Given the description of an element on the screen output the (x, y) to click on. 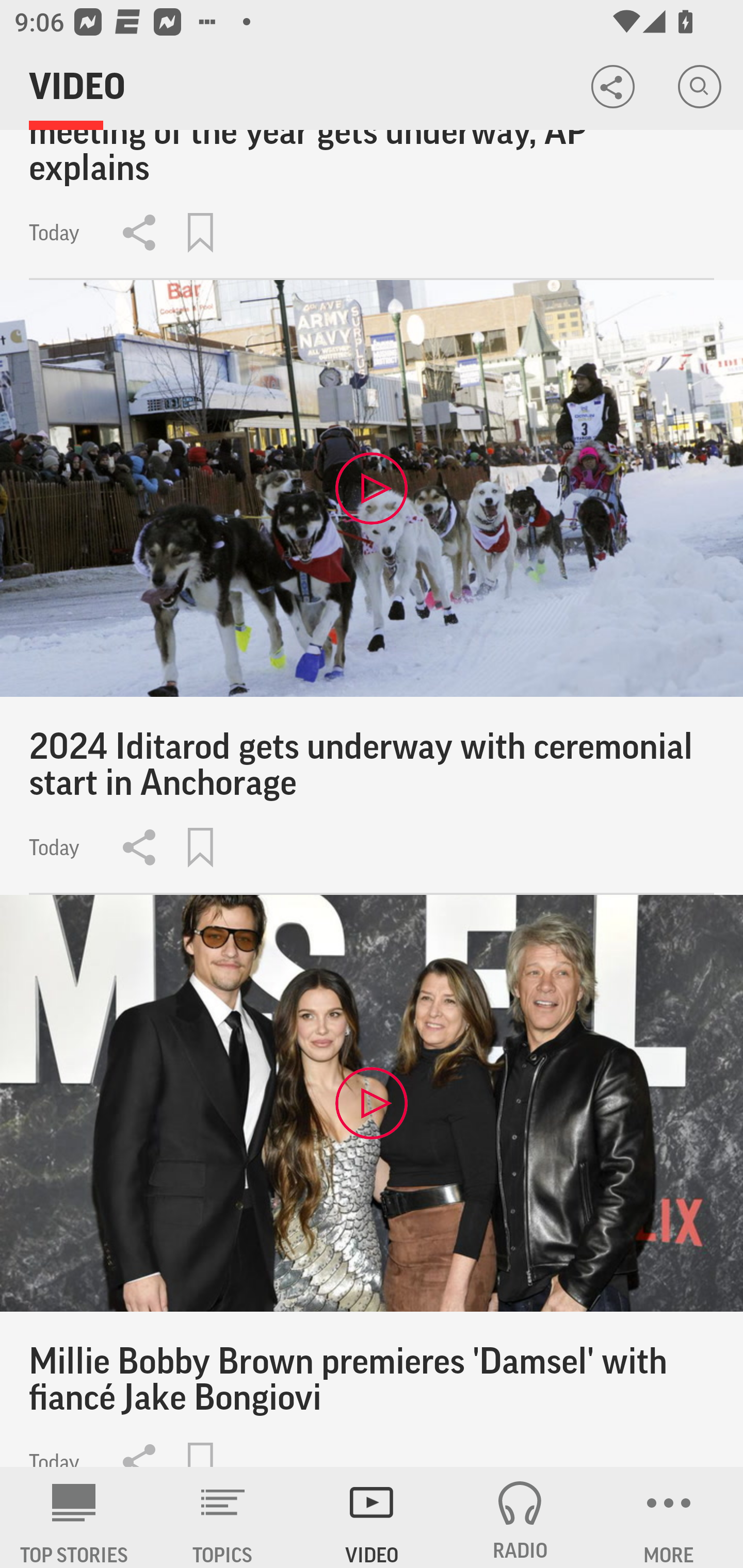
AP News TOP STORIES (74, 1517)
TOPICS (222, 1517)
VIDEO (371, 1517)
RADIO (519, 1517)
MORE (668, 1517)
